Given the description of an element on the screen output the (x, y) to click on. 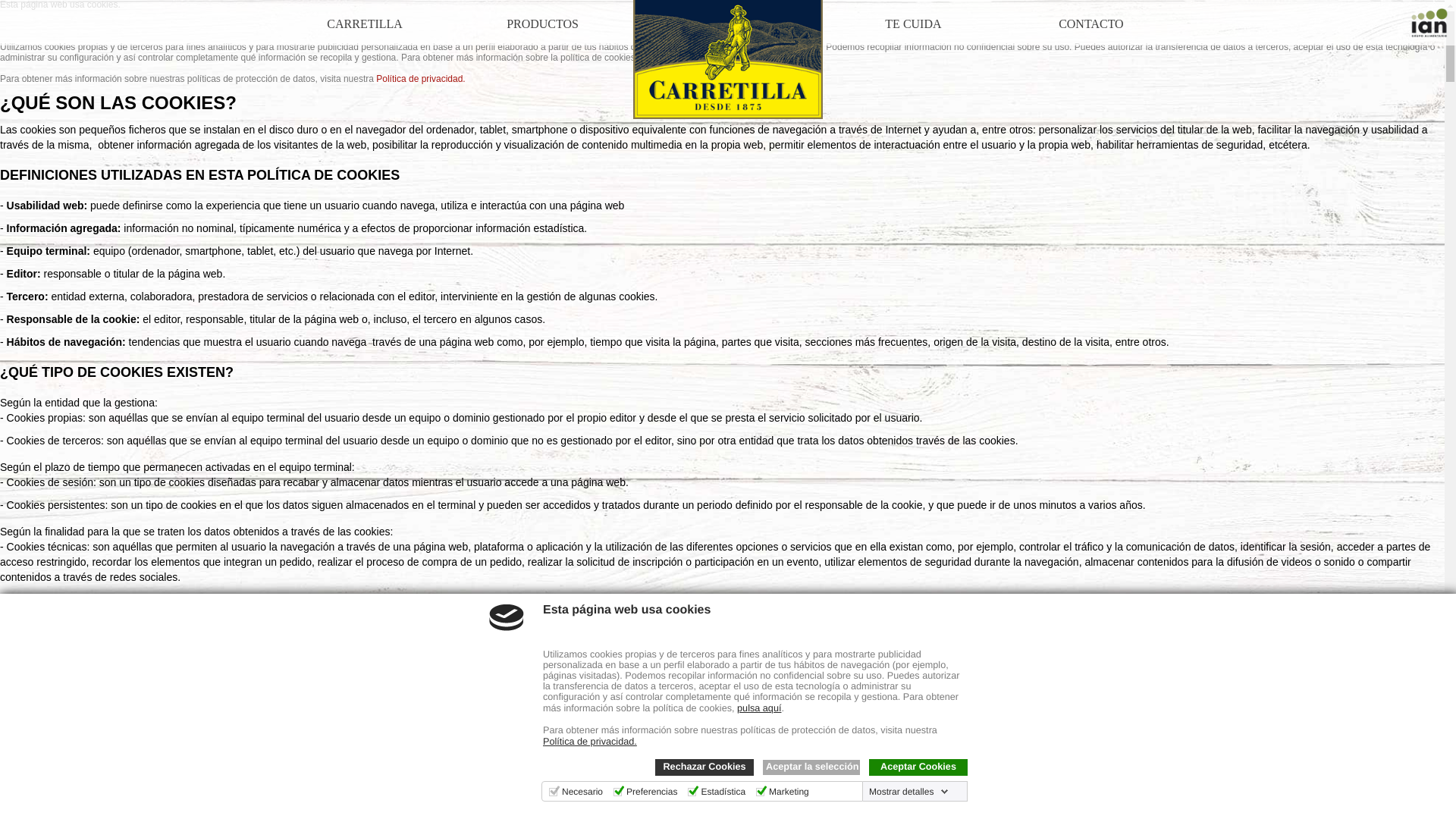
Cambiar tu consentimiento (72, 790)
Cookiebot (298, 814)
Cookiebot (298, 814)
